Given the description of an element on the screen output the (x, y) to click on. 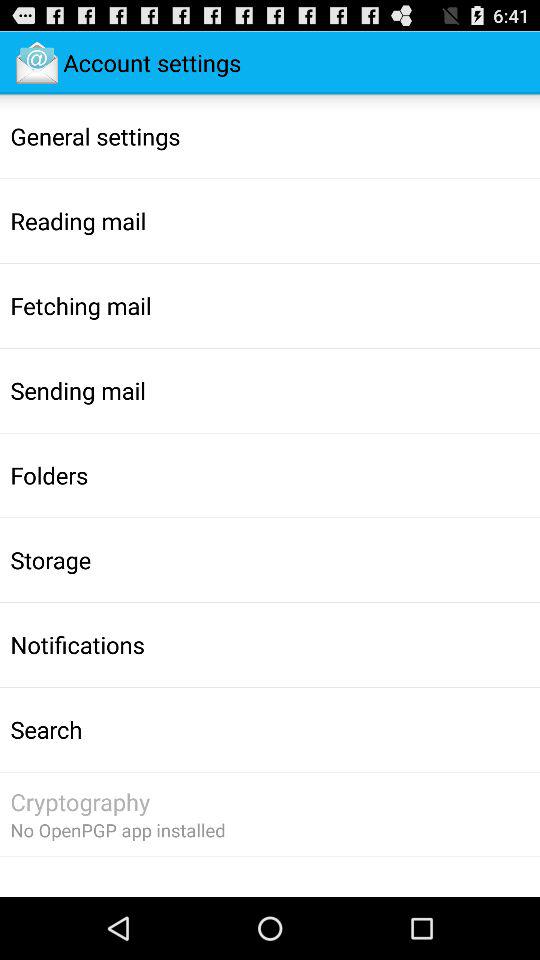
open the icon above the sending mail item (80, 305)
